Given the description of an element on the screen output the (x, y) to click on. 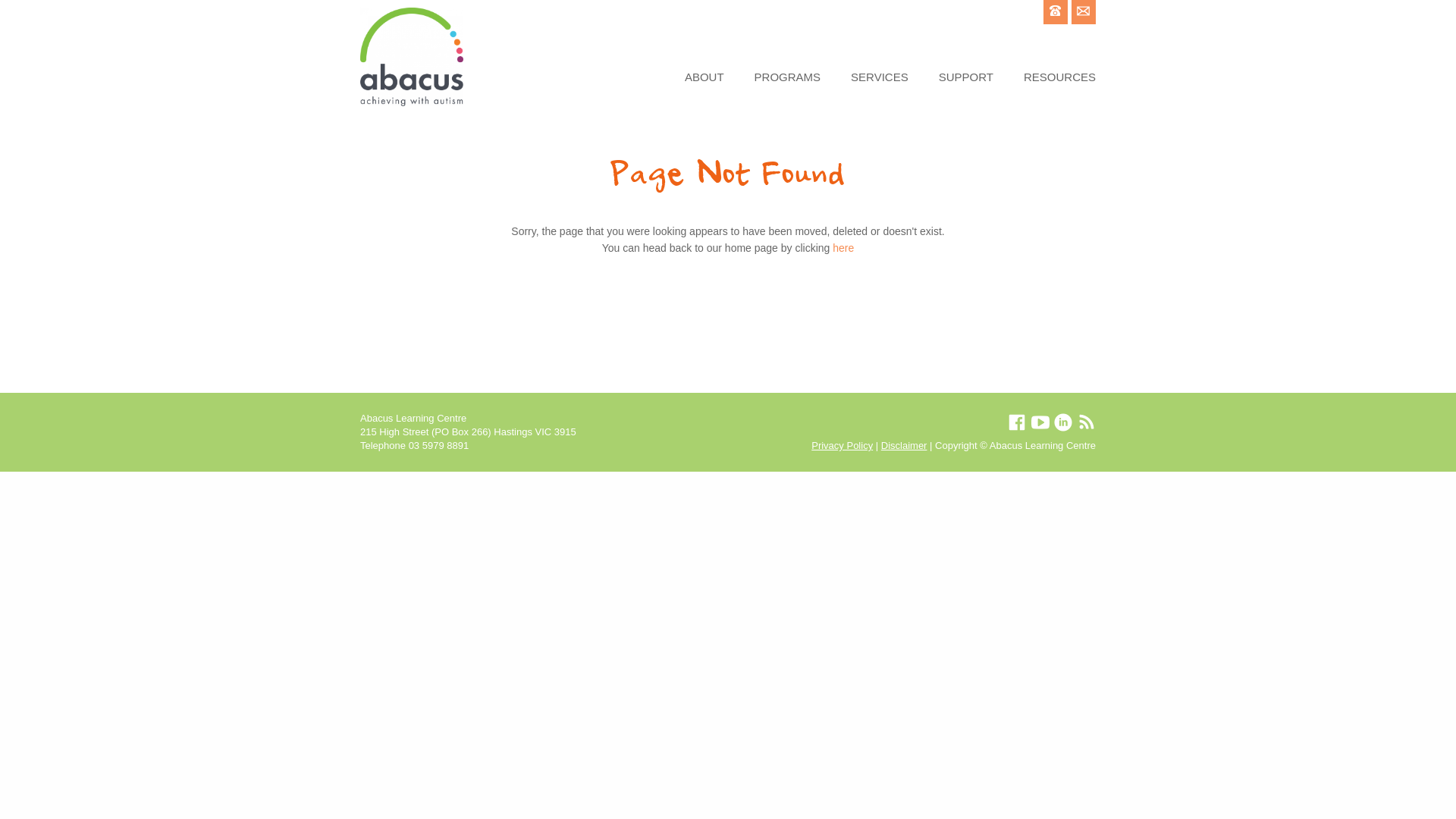
RESOURCES Element type: text (1051, 76)
ABOUT Element type: text (711, 76)
SUPPORT Element type: text (965, 76)
03 5979 8891 Element type: text (438, 445)
Privacy Policy Element type: text (841, 445)
PROGRAMS Element type: text (787, 76)
here Element type: text (842, 247)
Disclaimer Element type: text (904, 445)
SERVICES Element type: text (879, 76)
